Given the description of an element on the screen output the (x, y) to click on. 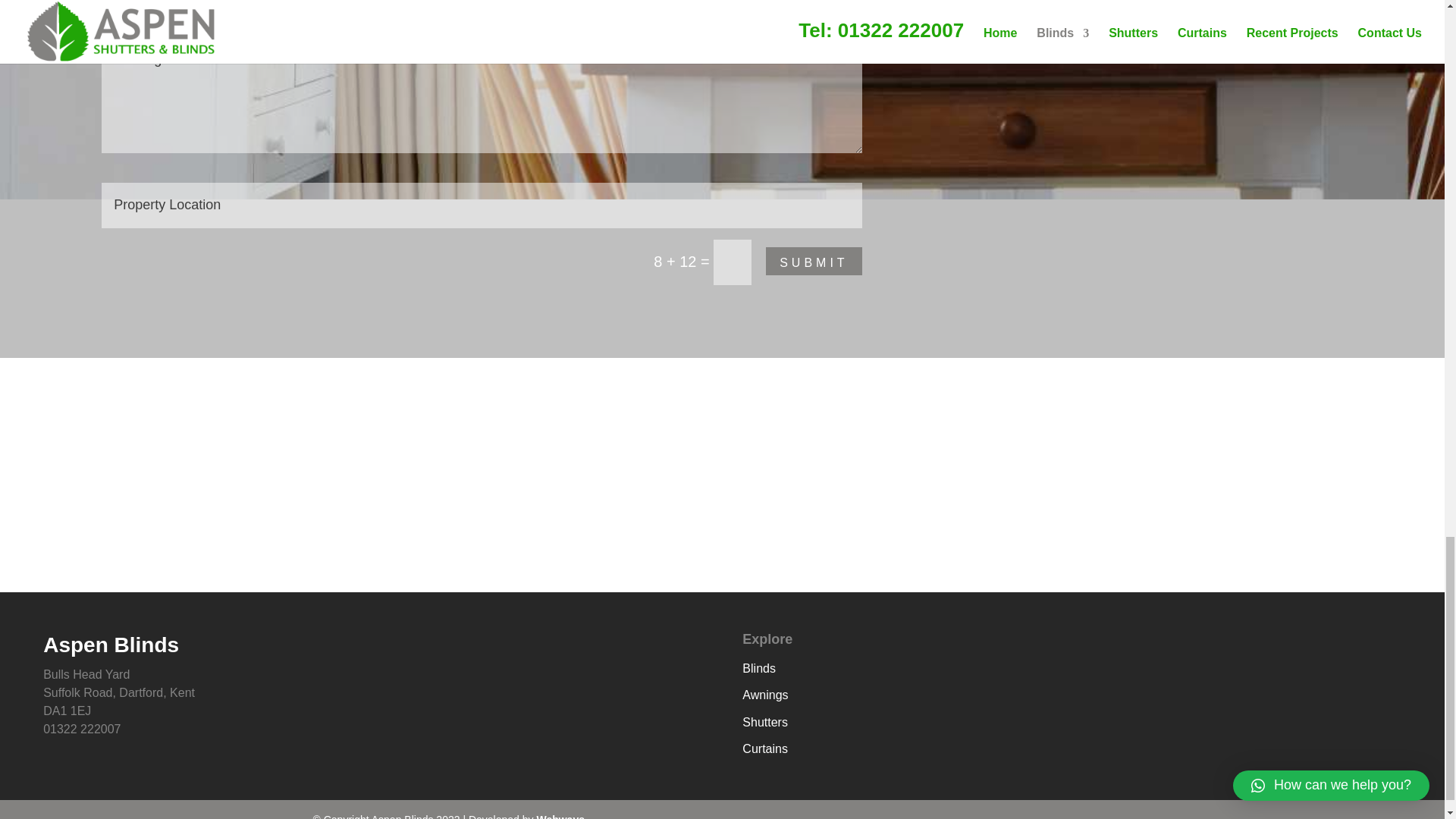
Shutters (764, 721)
Blinds (759, 667)
Awnings (764, 694)
SUBMIT (813, 261)
Webways (560, 816)
Curtains (764, 748)
